Given the description of an element on the screen output the (x, y) to click on. 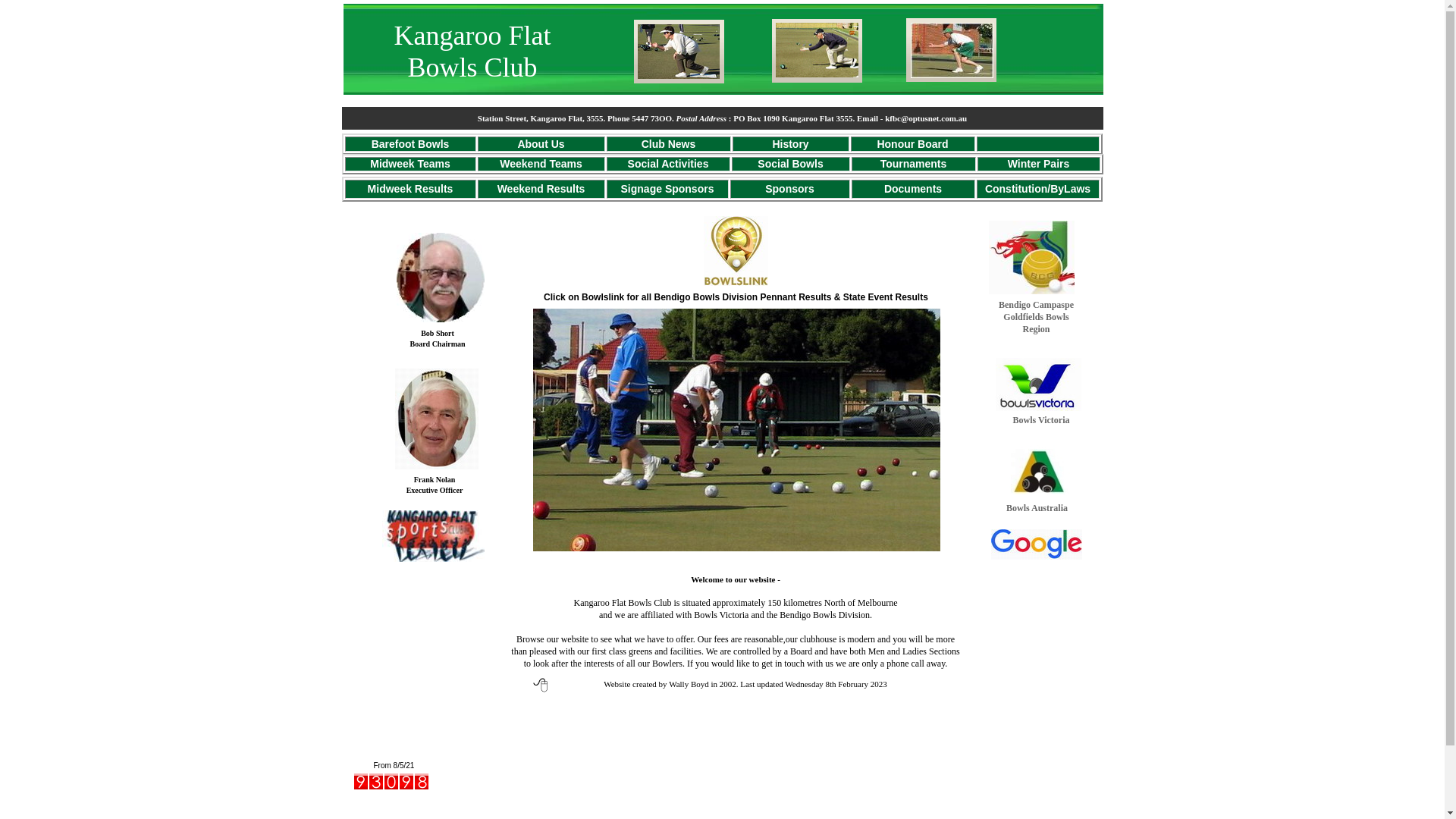
Weekend Teams Element type: text (540, 162)
Click to see detail of visits and stats for this site Element type: hover (391, 781)
Sponsors Element type: text (789, 188)
inter Pairs Element type: text (1043, 162)
ocial Bowls Element type: text (794, 162)
W Element type: text (1012, 162)
Barefoot Bowls Element type: text (410, 142)
D Element type: text (887, 188)
About Us Element type: text (540, 142)
Signage Sponsors Element type: text (667, 188)
Club News Element type: text (668, 142)
S Element type: text (760, 162)
Midweek Results Element type: text (410, 188)
Weekend Results Element type: text (541, 188)
ocuments Element type: text (916, 188)
Honour Board Element type: text (911, 142)
Midweek Teams Element type: text (410, 162)
T Element type: text (883, 162)
Social Activities Element type: text (668, 162)
Constitution/ByLaws Element type: text (1037, 188)
ournaments Element type: text (915, 162)
History Element type: text (789, 142)
